Given the description of an element on the screen output the (x, y) to click on. 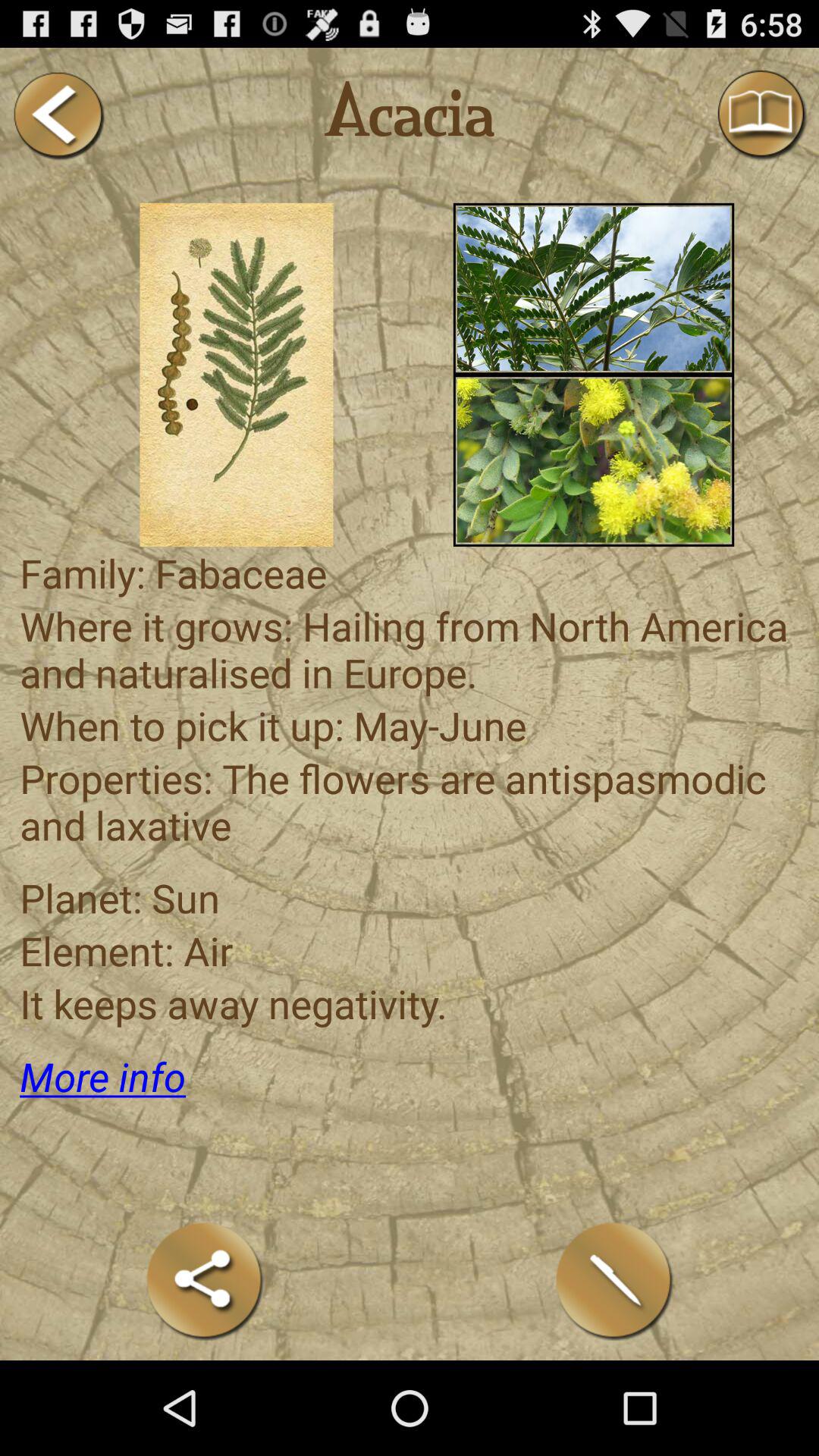
opens an image (236, 374)
